Given the description of an element on the screen output the (x, y) to click on. 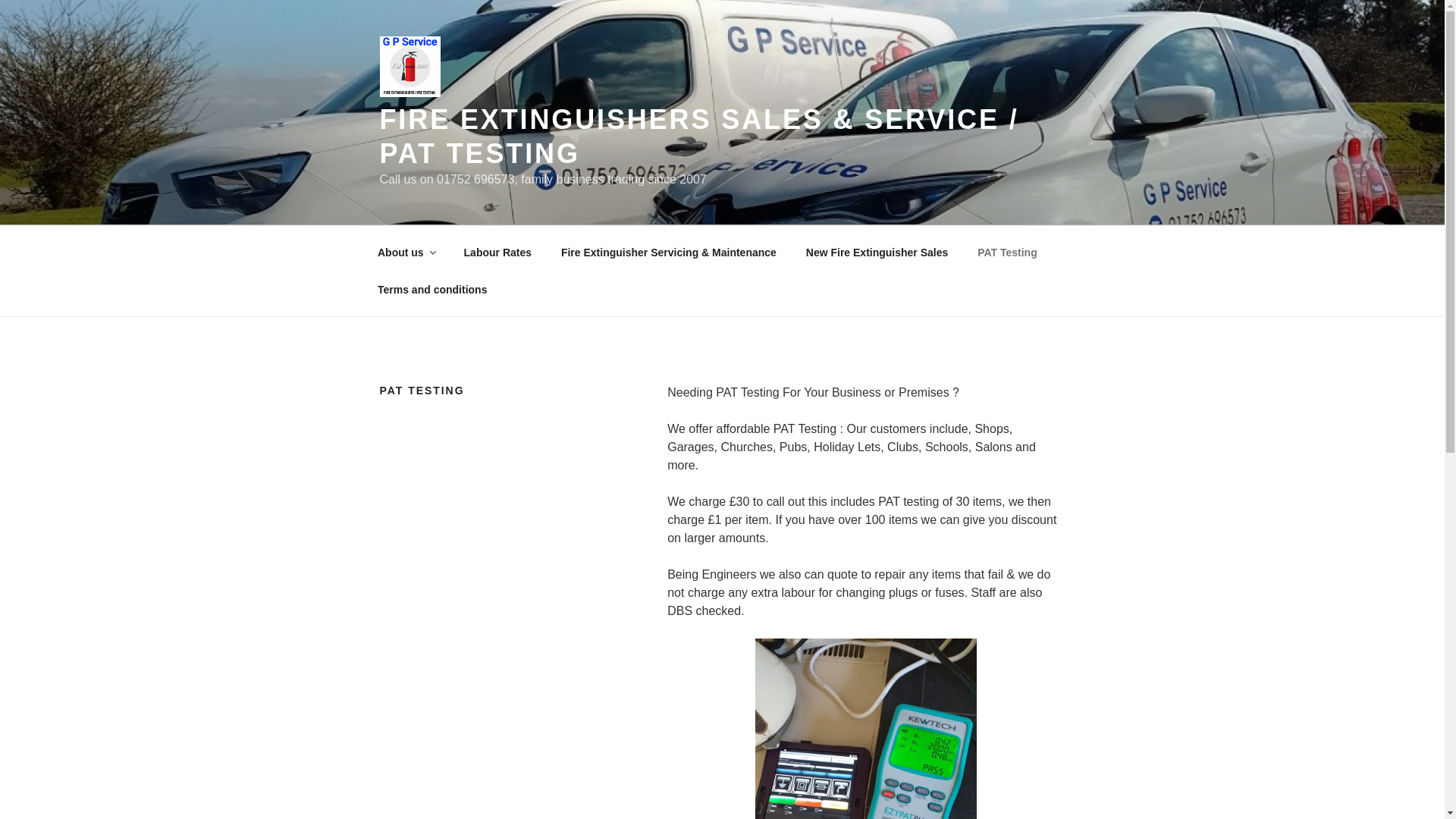
New Fire Extinguisher Sales (876, 252)
PAT Testing (1007, 252)
Terms and conditions (431, 289)
About us (405, 252)
Labour Rates (496, 252)
